Given the description of an element on the screen output the (x, y) to click on. 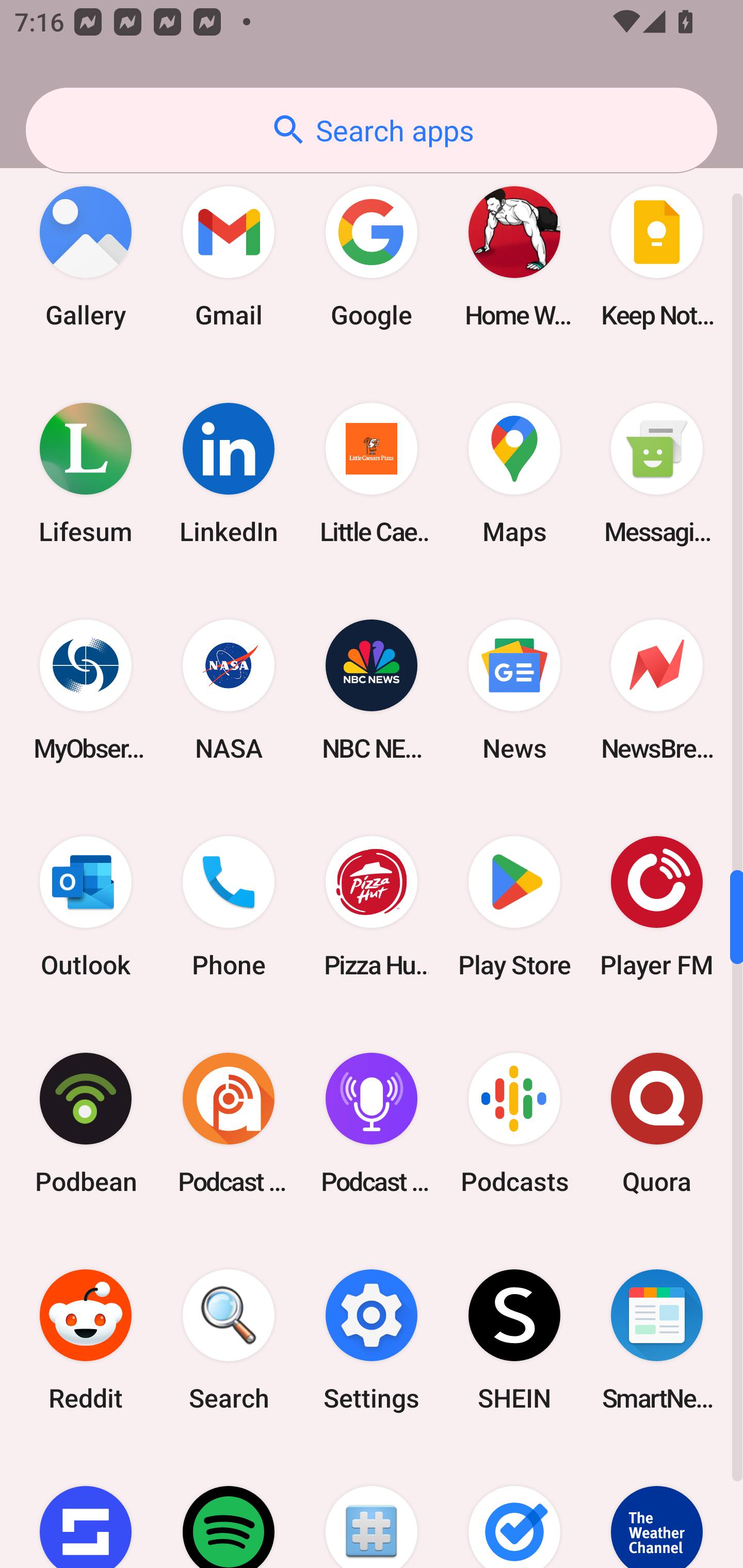
  Search apps (371, 130)
Gallery (85, 256)
Gmail (228, 256)
Google (371, 256)
Home Workout (514, 256)
Keep Notes (656, 256)
Lifesum (85, 473)
LinkedIn (228, 473)
Little Caesars Pizza (371, 473)
Maps (514, 473)
Messaging (656, 473)
MyObservatory (85, 689)
NASA (228, 689)
NBC NEWS (371, 689)
News (514, 689)
NewsBreak (656, 689)
Outlook (85, 906)
Phone (228, 906)
Pizza Hut HK & Macau (371, 906)
Play Store (514, 906)
Player FM (656, 906)
Podbean (85, 1123)
Podcast Addict (228, 1123)
Podcast Player (371, 1123)
Podcasts (514, 1123)
Quora (656, 1123)
Reddit (85, 1340)
Search (228, 1340)
Settings (371, 1340)
SHEIN (514, 1340)
SmartNews (656, 1340)
Sofascore (85, 1508)
Spotify (228, 1508)
Superuser (371, 1508)
Tasks (514, 1508)
The Weather Channel (656, 1508)
